Given the description of an element on the screen output the (x, y) to click on. 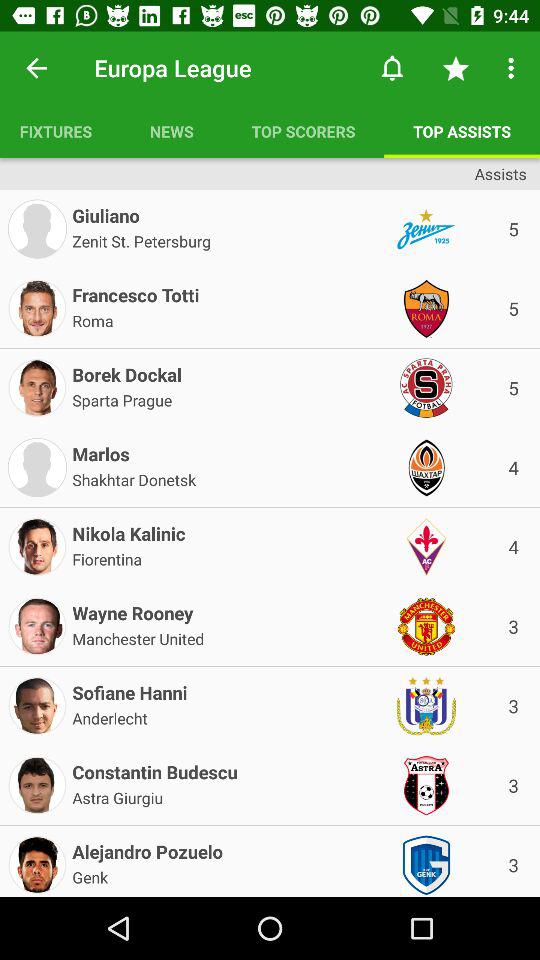
launch item above top assists (455, 67)
